Given the description of an element on the screen output the (x, y) to click on. 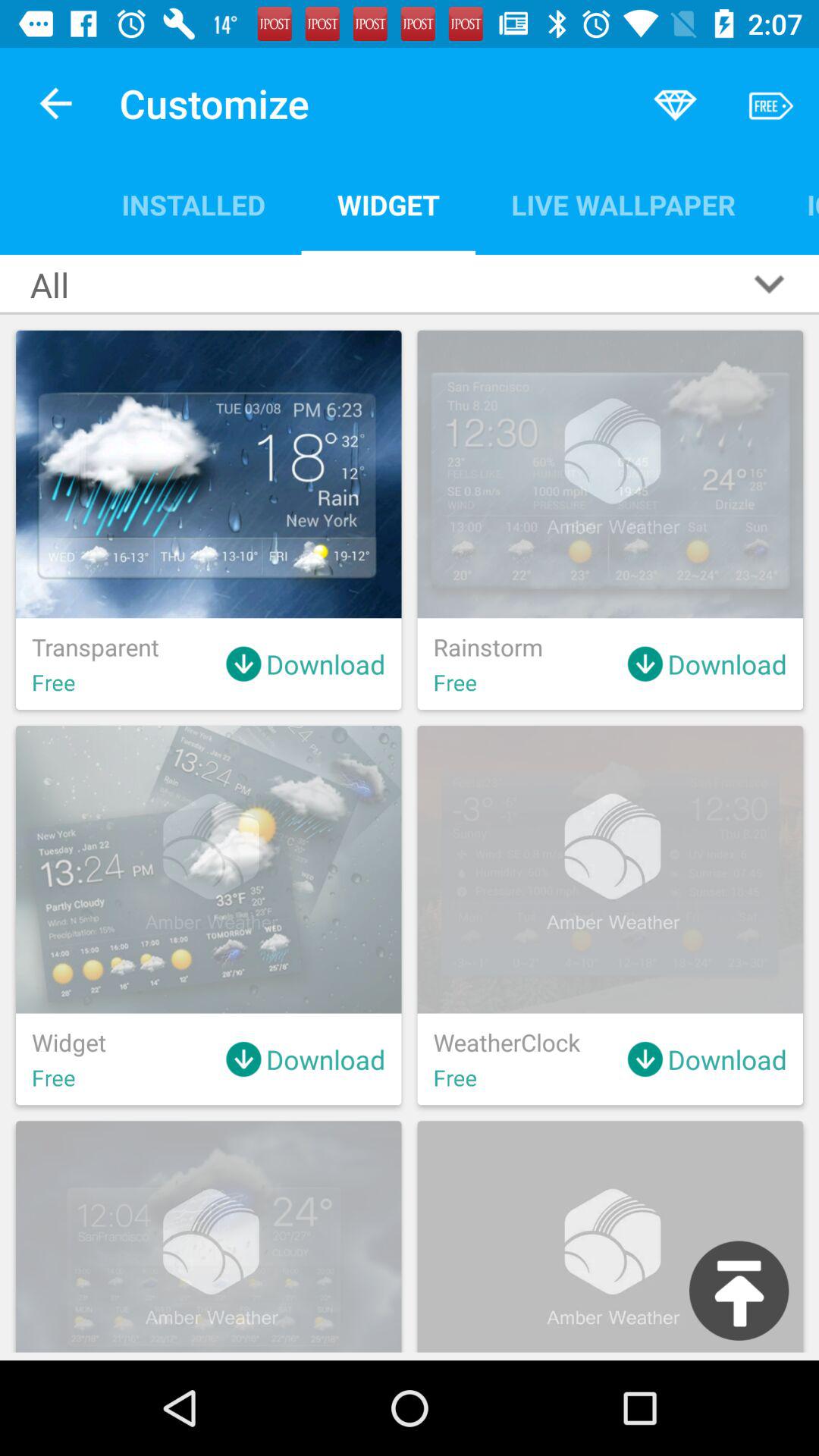
launch icon next to the all item (193, 204)
